Given the description of an element on the screen output the (x, y) to click on. 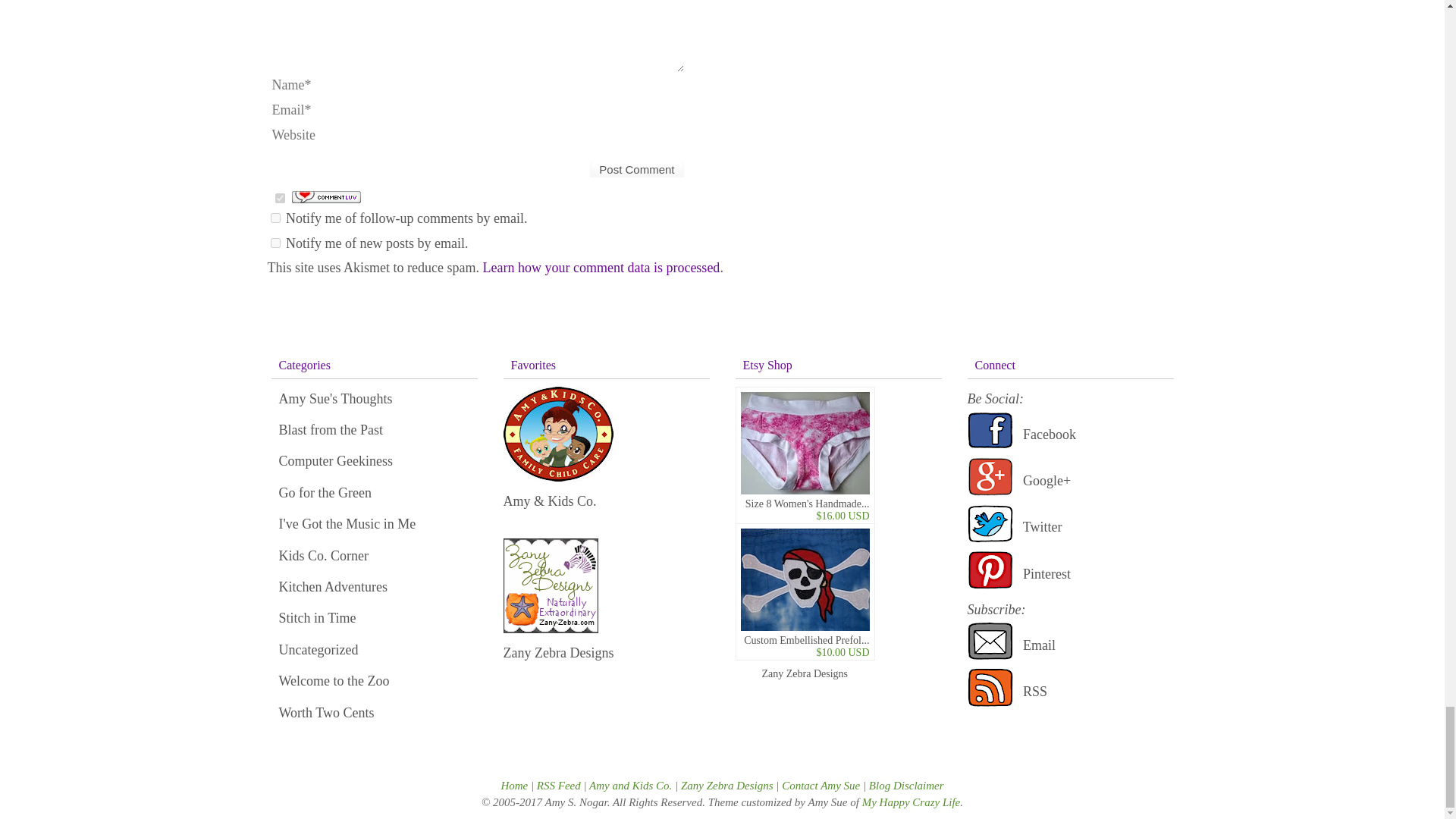
subscribe (274, 243)
subscribe (274, 217)
on (278, 198)
Post Comment (636, 169)
